Given the description of an element on the screen output the (x, y) to click on. 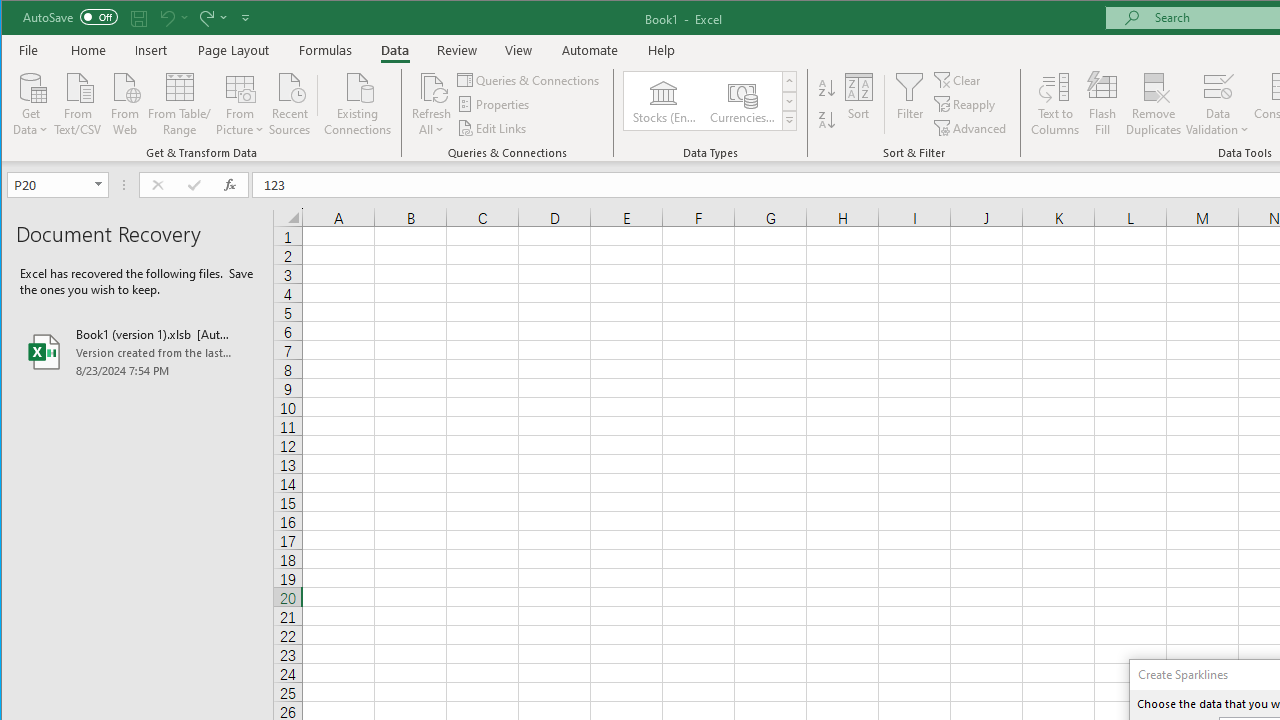
Get Data (31, 101)
Edit Links (493, 127)
Remove Duplicates (1153, 104)
Recent Sources (290, 101)
Sort Largest to Smallest (827, 119)
Properties (495, 103)
AutomationID: ConvertToLinkedEntity (711, 101)
